Given the description of an element on the screen output the (x, y) to click on. 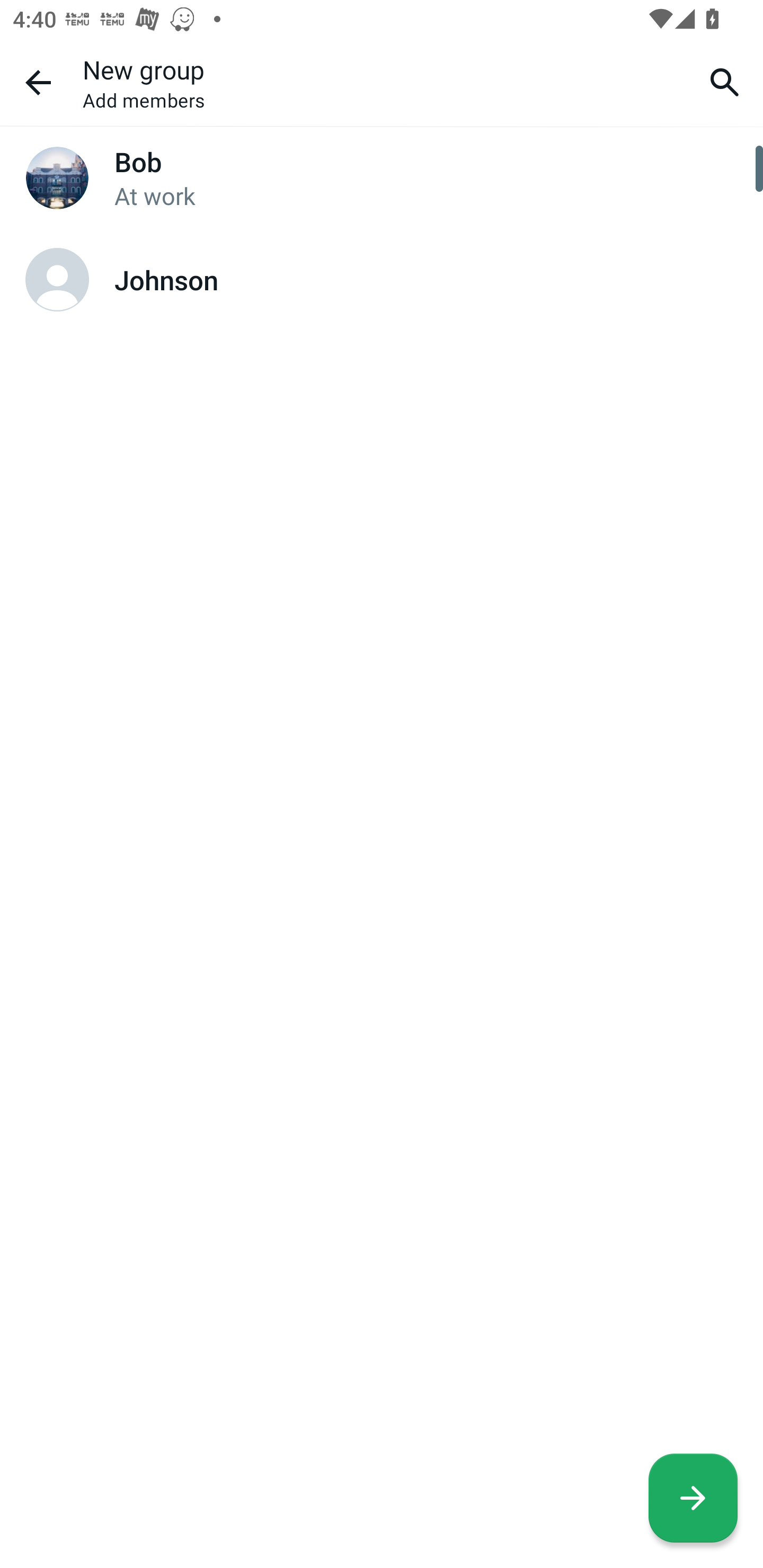
Navigate up (38, 82)
Search (724, 81)
Bob Bob ‎At work (381, 177)
Johnson (381, 279)
Next (692, 1497)
